Given the description of an element on the screen output the (x, y) to click on. 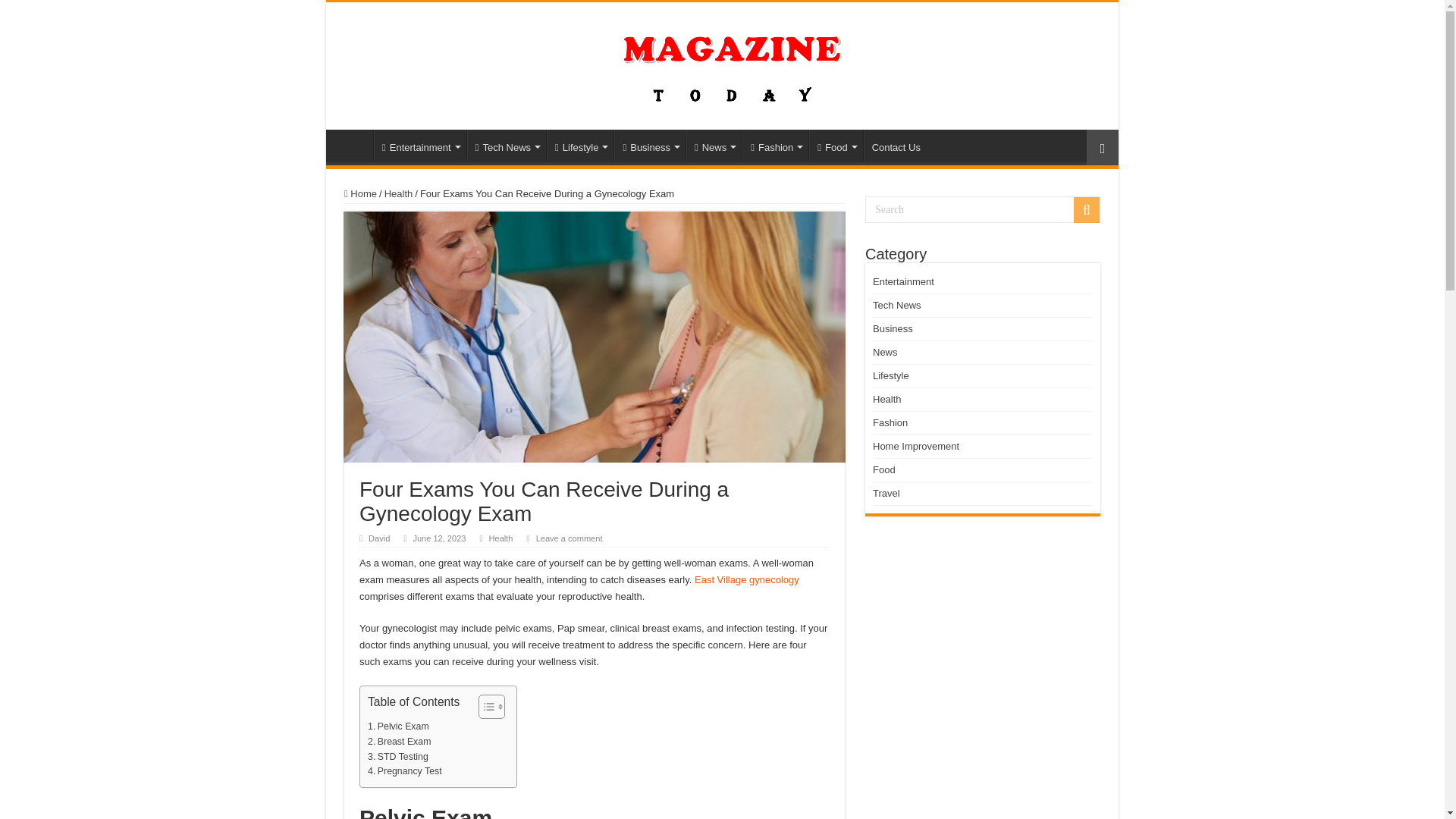
Tech News (506, 145)
Magazine Today (722, 63)
Search (982, 209)
Home (352, 145)
Entertainment (419, 145)
